Given the description of an element on the screen output the (x, y) to click on. 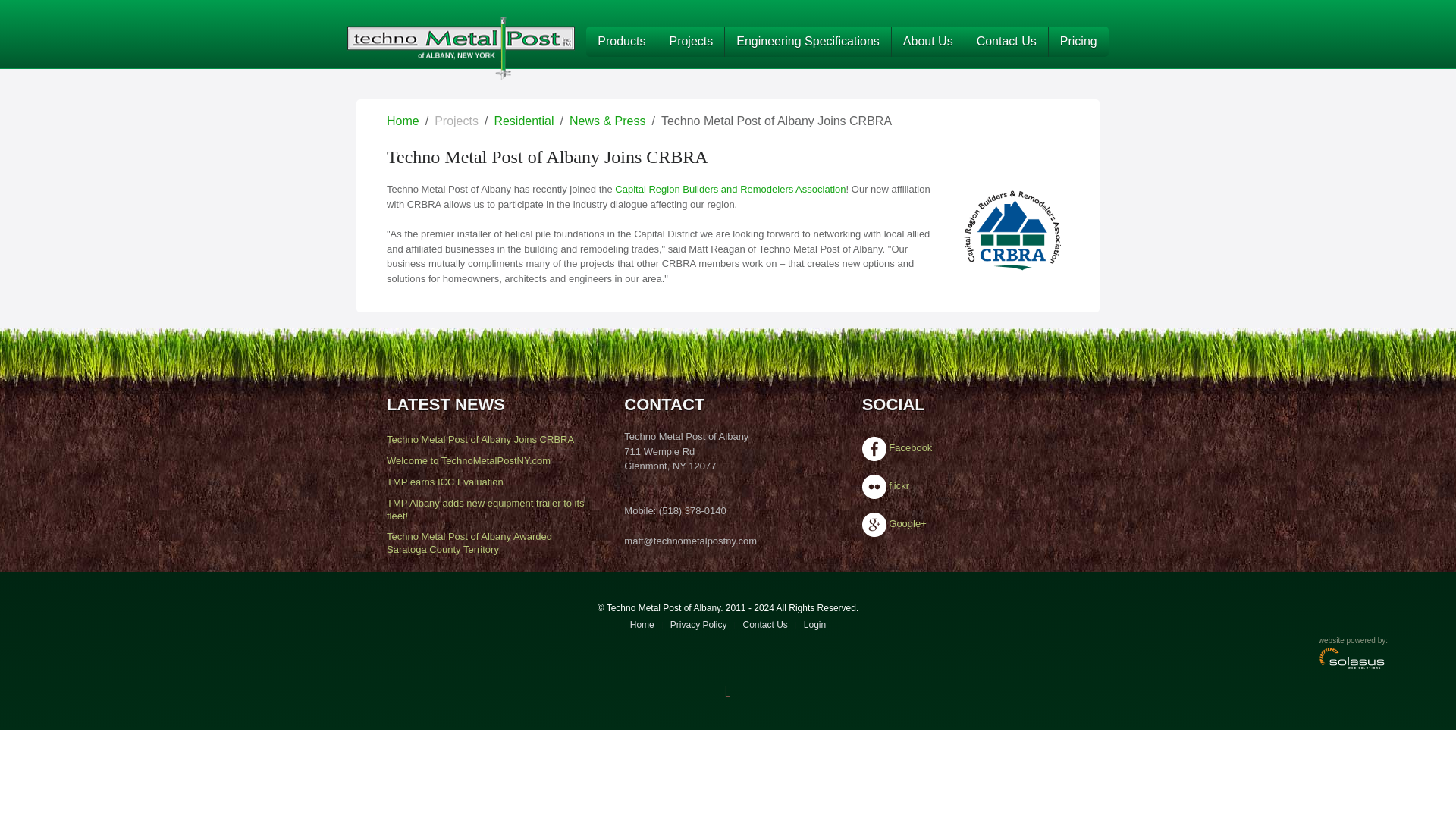
Welcome to TechnoMetalPostNY.com (468, 460)
TMP earns ICC Evaluation (445, 481)
About Us (927, 41)
Residential (523, 120)
Products (621, 41)
TMP Albany adds new equipment trailer to its fleet! (486, 509)
Projects (690, 41)
Facebook (909, 447)
Pricing (1078, 41)
Capital Region Builders and Remodelers Association (729, 188)
Techno Metal Post of Albany Joins CRBRA (480, 439)
Home (403, 120)
Contact Us (1006, 41)
flickr (898, 485)
